Given the description of an element on the screen output the (x, y) to click on. 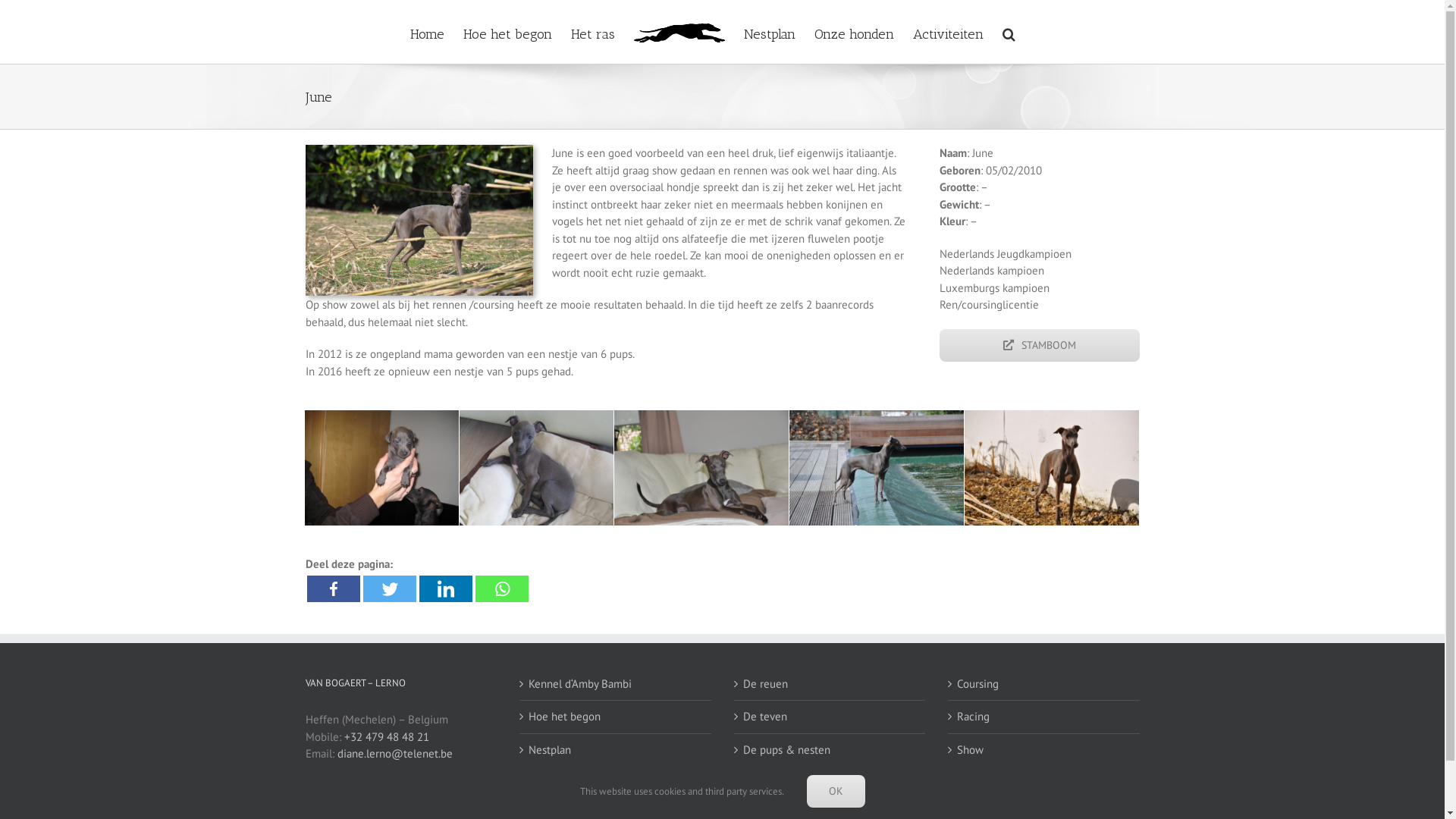
Het ras Element type: text (1044, 782)
Onze honden Element type: text (854, 31)
https://www.amby-bambi.be Element type: text (397, 770)
June foto 1 Element type: hover (381, 468)
Zoeken Element type: hover (1008, 31)
STAMBOOM Element type: text (1038, 345)
De teven Element type: text (830, 716)
June foto 5 Element type: hover (1051, 468)
In memoriam Element type: text (830, 782)
June foto 3 Element type: hover (701, 468)
Nestplan Element type: text (615, 750)
June Element type: hover (418, 150)
Racing Element type: text (1044, 716)
Whatsapp Element type: hover (500, 588)
+32 479 48 48 21 Element type: text (386, 736)
OK Element type: text (835, 791)
Onze honden Element type: text (615, 782)
Het ras Element type: text (593, 31)
June foto 2 Element type: hover (536, 468)
Show Element type: text (1044, 750)
Linkedin Element type: hover (444, 588)
Coursing Element type: text (1044, 684)
Activiteiten Element type: text (948, 31)
Hoe het begon Element type: text (507, 31)
Home Element type: text (427, 31)
De pups & nesten Element type: text (830, 750)
June foto 4 Element type: hover (876, 468)
Nestplan Element type: text (769, 31)
De reuen Element type: text (830, 684)
Facebook Element type: hover (332, 588)
diane.lerno@telenet.be Element type: text (393, 753)
Twitter Element type: hover (388, 588)
Hoe het begon Element type: text (615, 716)
